Given the description of an element on the screen output the (x, y) to click on. 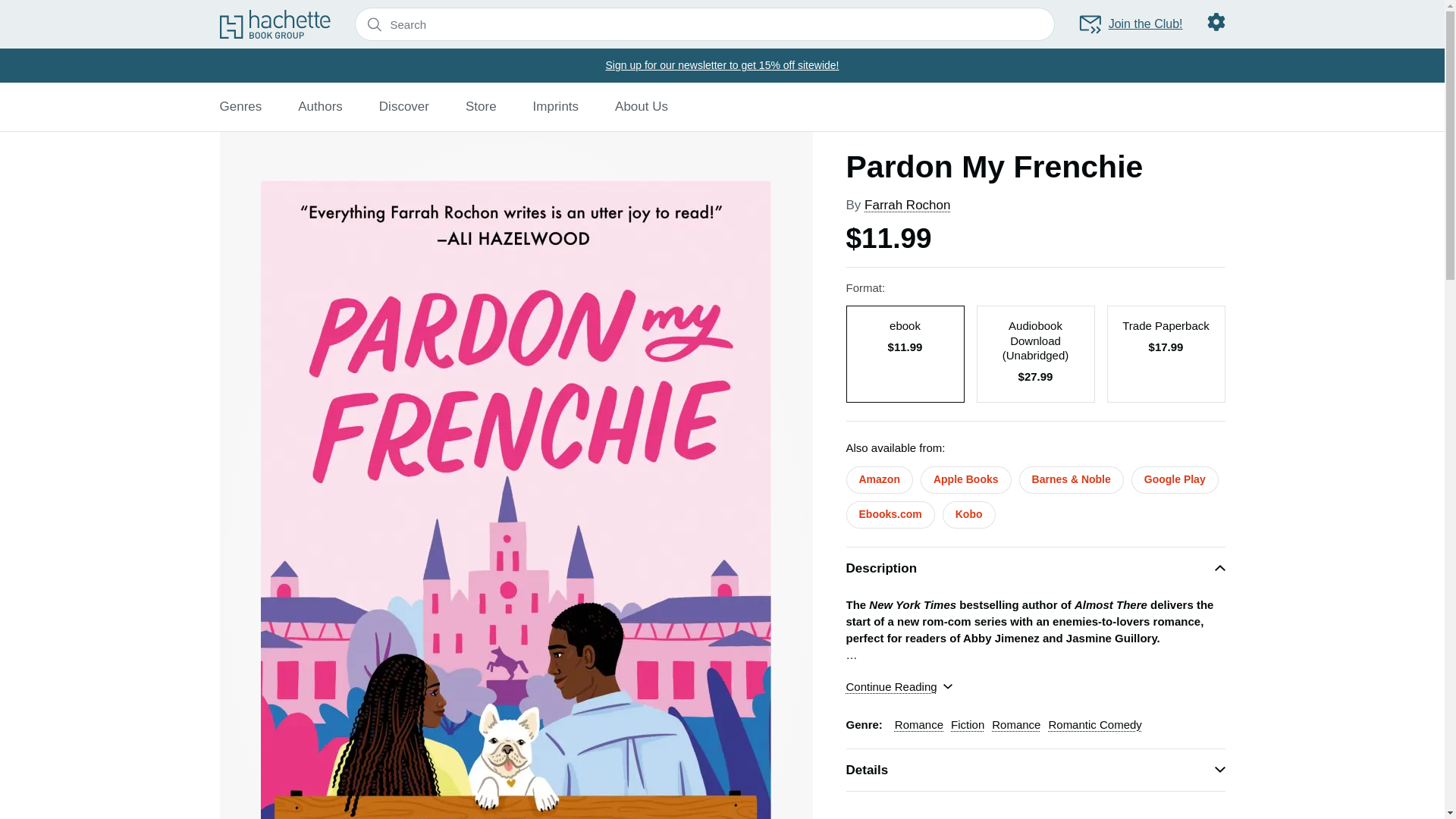
Go to Hachette Book Group home (274, 23)
Join the Club! (1130, 24)
Genres (240, 106)
